Given the description of an element on the screen output the (x, y) to click on. 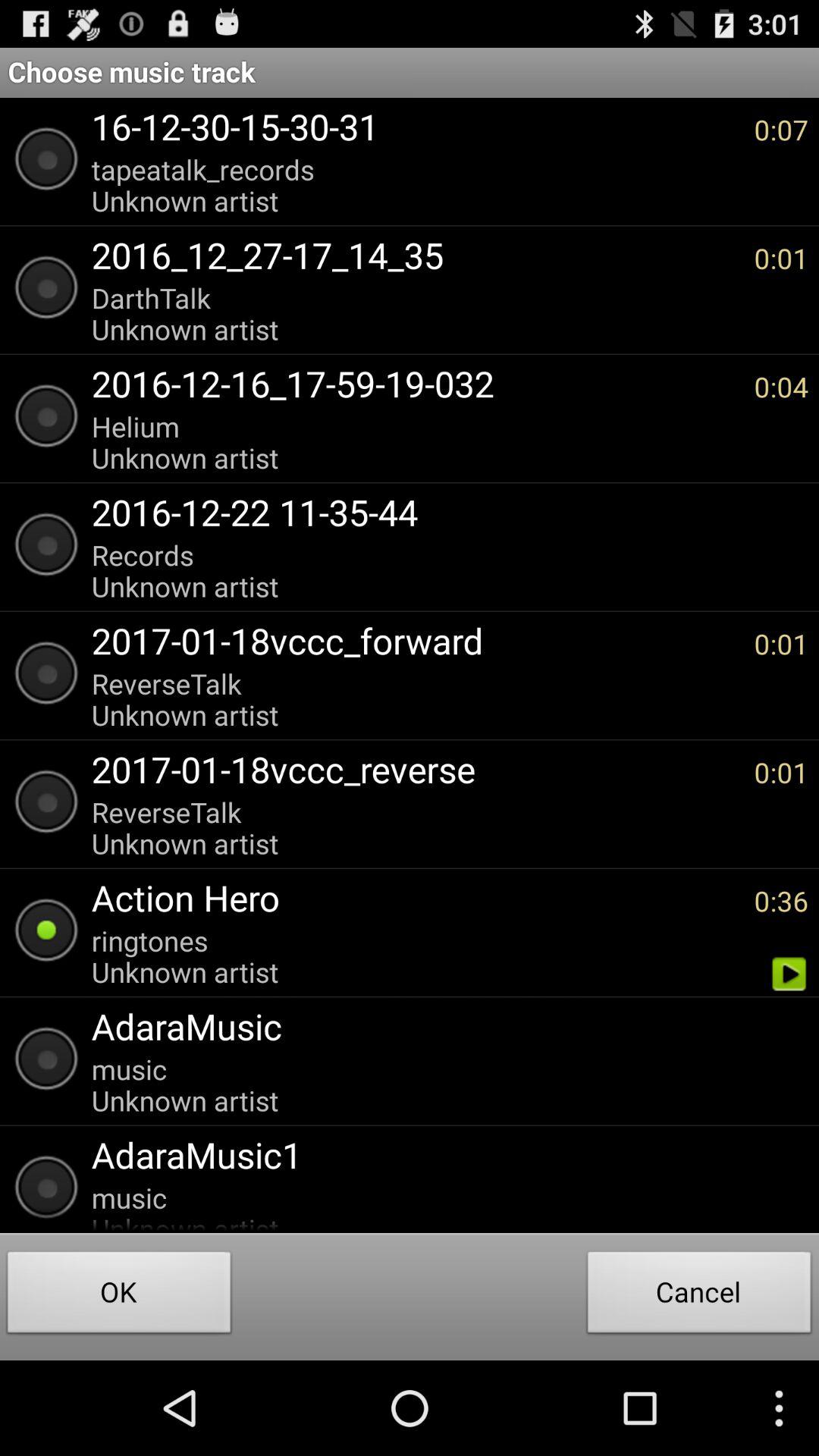
choose tapeatalk_records
unknown artist icon (414, 185)
